Given the description of an element on the screen output the (x, y) to click on. 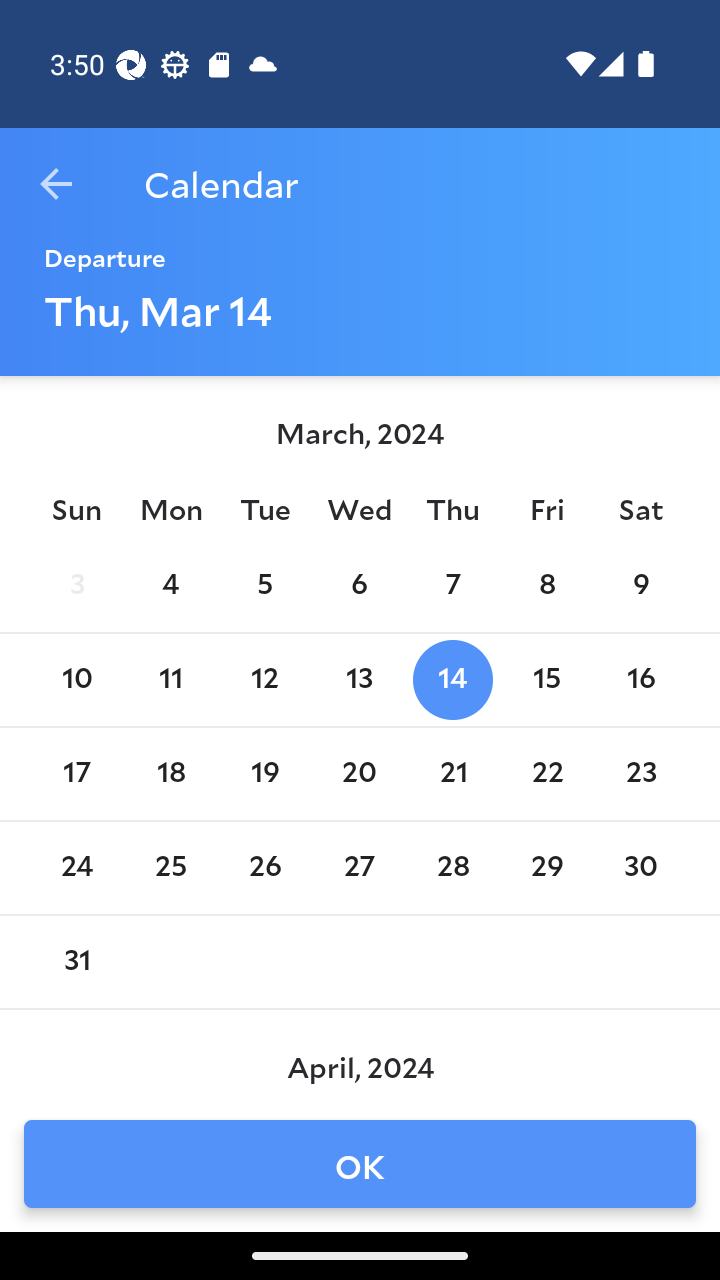
Navigate up (56, 184)
3 (76, 585)
4 (170, 585)
5 (264, 585)
6 (358, 585)
7 (453, 585)
8 (546, 585)
9 (641, 585)
10 (76, 679)
11 (170, 679)
12 (264, 679)
13 (358, 679)
14 (453, 679)
15 (546, 679)
16 (641, 679)
17 (76, 773)
18 (170, 773)
19 (264, 773)
20 (358, 773)
21 (453, 773)
22 (546, 773)
23 (641, 773)
24 (76, 867)
25 (170, 867)
26 (264, 867)
27 (358, 867)
28 (453, 867)
29 (546, 867)
30 (641, 867)
31 (76, 961)
OK (359, 1164)
